Given the description of an element on the screen output the (x, y) to click on. 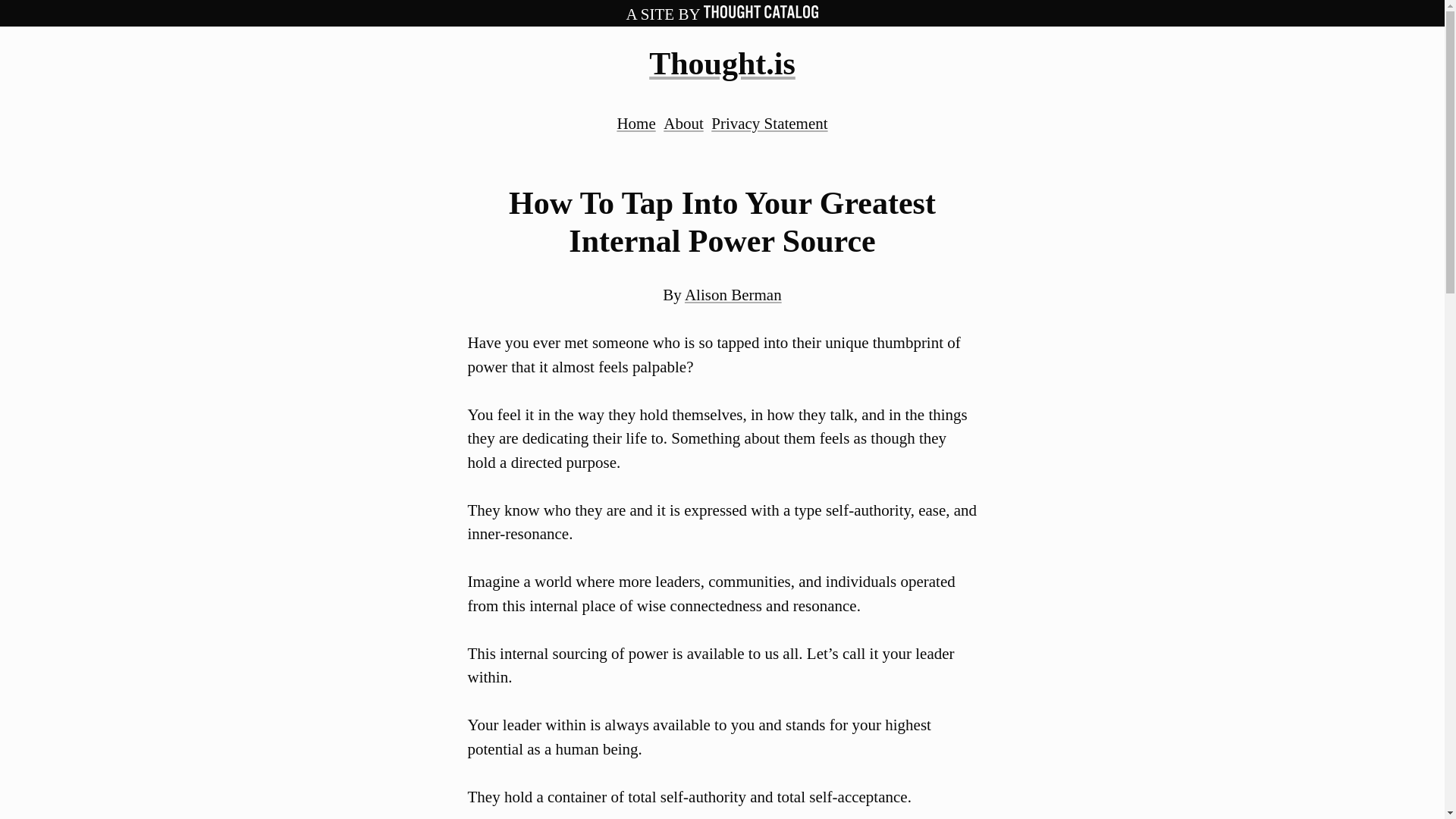
Alison Berman (732, 294)
Home (635, 123)
Thought.is (721, 63)
Privacy Statement (769, 123)
THOUGHT CATALOG (760, 13)
Posts by Alison Berman (732, 294)
About (683, 123)
THOUGHT CATALOG (760, 11)
